Given the description of an element on the screen output the (x, y) to click on. 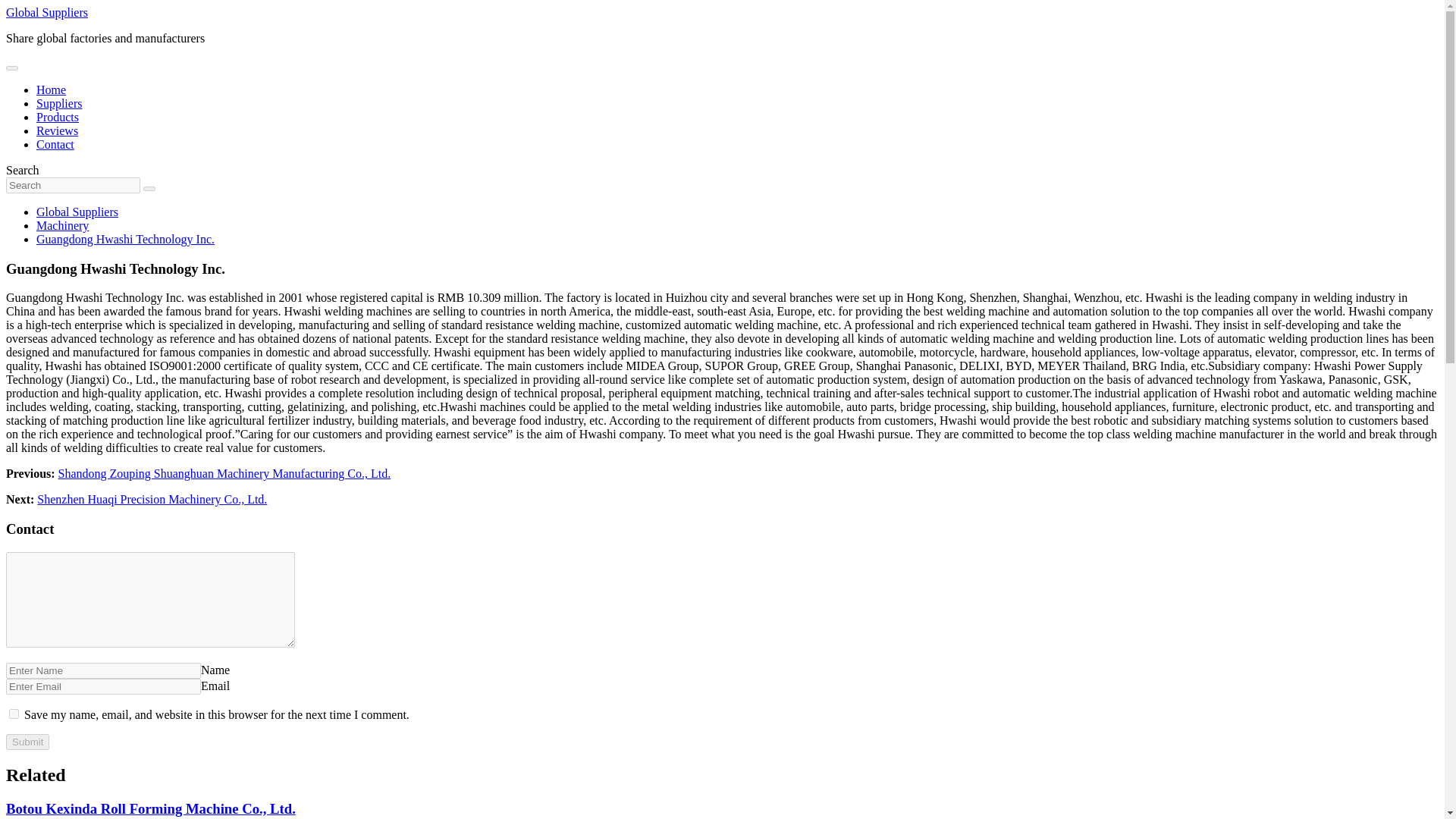
Home (50, 89)
Search (148, 188)
Botou Kexinda Roll Forming Machine Co., Ltd. (150, 808)
Global Suppliers (76, 211)
Reviews (57, 130)
Guangdong Hwashi Technology Inc. (125, 238)
yes (13, 714)
Submit (27, 741)
Machinery (62, 225)
Products (57, 116)
Shenzhen Huaqi Precision Machinery Co., Ltd. (151, 499)
Global Suppliers (46, 11)
Contact (55, 144)
Suppliers (58, 103)
